Given the description of an element on the screen output the (x, y) to click on. 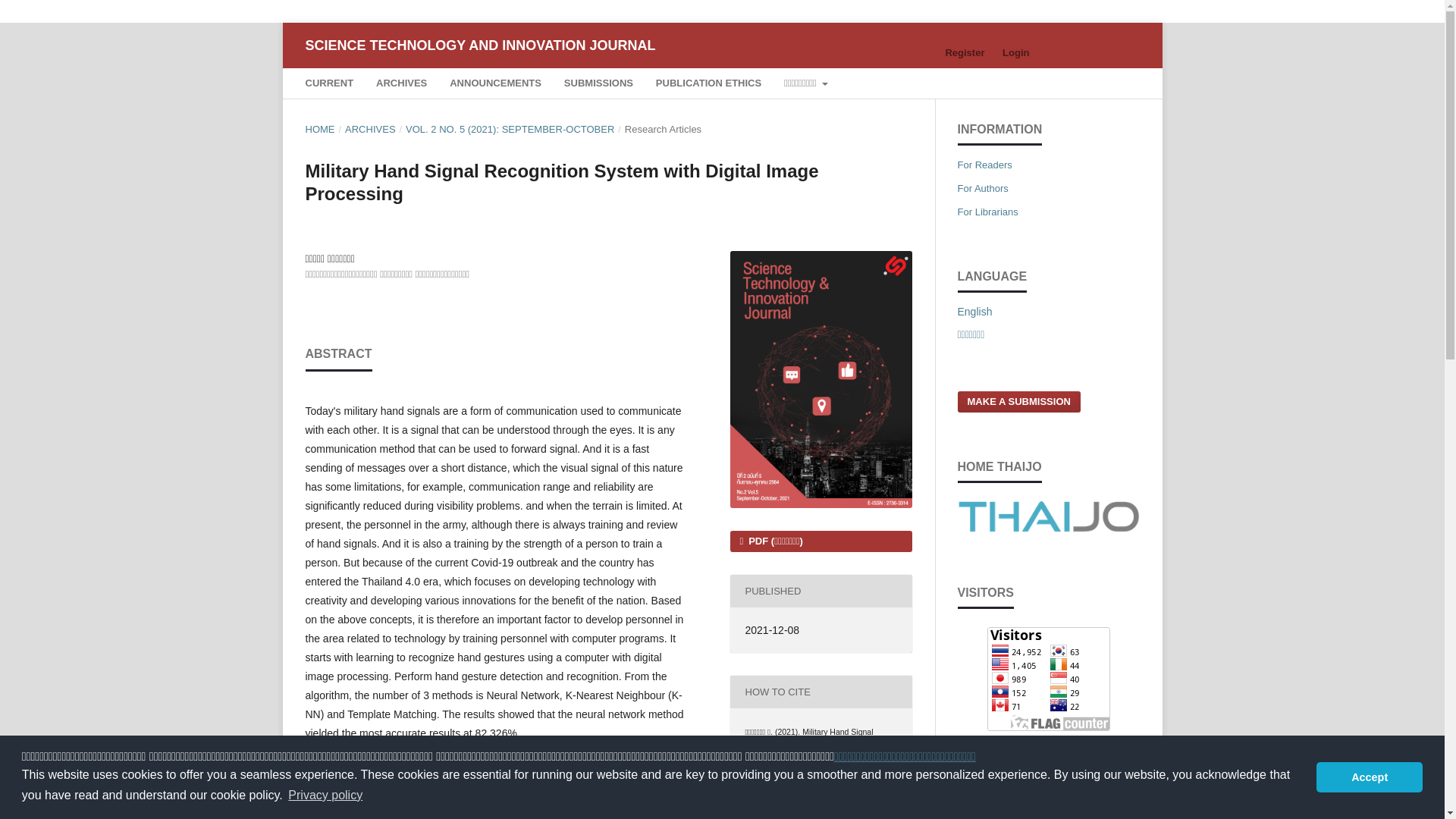
SCIENCE TECHNOLOGY AND INNOVATION JOURNAL (479, 45)
ARCHIVES (370, 129)
Login (1015, 52)
ANNOUNCEMENTS (496, 85)
Privacy policy (325, 794)
HOME (319, 129)
home thaijo (1047, 528)
Search (1107, 85)
ARCHIVES (401, 85)
SUBMISSIONS (598, 85)
CURRENT (328, 85)
PUBLICATION ETHICS (707, 85)
Accept (1369, 777)
Register (964, 52)
